Given the description of an element on the screen output the (x, y) to click on. 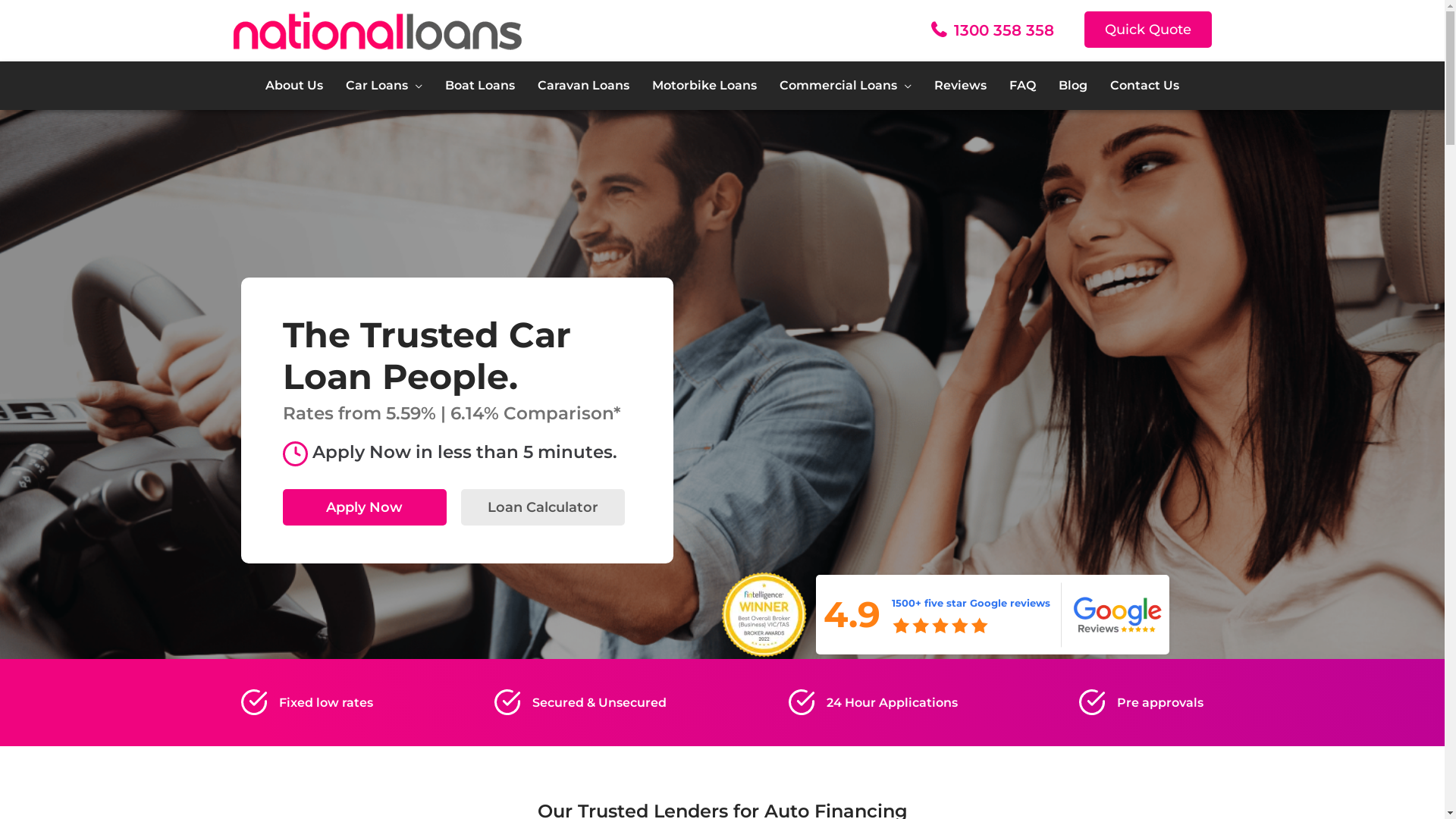
Boat Loans Element type: text (479, 85)
Auto Finance Deals - Home 4 Element type: hover (939, 626)
1300 358 358 Element type: text (1003, 30)
Apply Now Element type: text (363, 507)
About Us Element type: text (299, 85)
Contact Us Element type: text (1138, 85)
Auto Finance Deals - Home 5 Element type: hover (1117, 614)
Blog Element type: text (1072, 85)
GET YOUR FREE QUOTE Element type: text (1071, 514)
Submit Element type: text (773, 485)
Auto Finance Deals - Home 6 Element type: hover (1092, 702)
Motorbike Loans Element type: text (704, 85)
Reviews Element type: text (959, 85)
FAQ Element type: text (1022, 85)
Loan Calculator Element type: text (542, 507)
Car Loans Element type: text (383, 85)
Auto Finance Deals - Home 1 Element type: hover (294, 453)
Commercial Loans Element type: text (845, 85)
GET YOUR FREE QUOTE Element type: text (1289, 514)
Auto Finance Deals - Home 6 Element type: hover (254, 702)
Auto Finance Deals - Home 6 Element type: hover (801, 702)
Caravan Loans Element type: text (583, 85)
Auto Finance Deals - Home 6 Element type: hover (507, 702)
Auto Finance Deals - Home 3 Element type: hover (764, 614)
